Given the description of an element on the screen output the (x, y) to click on. 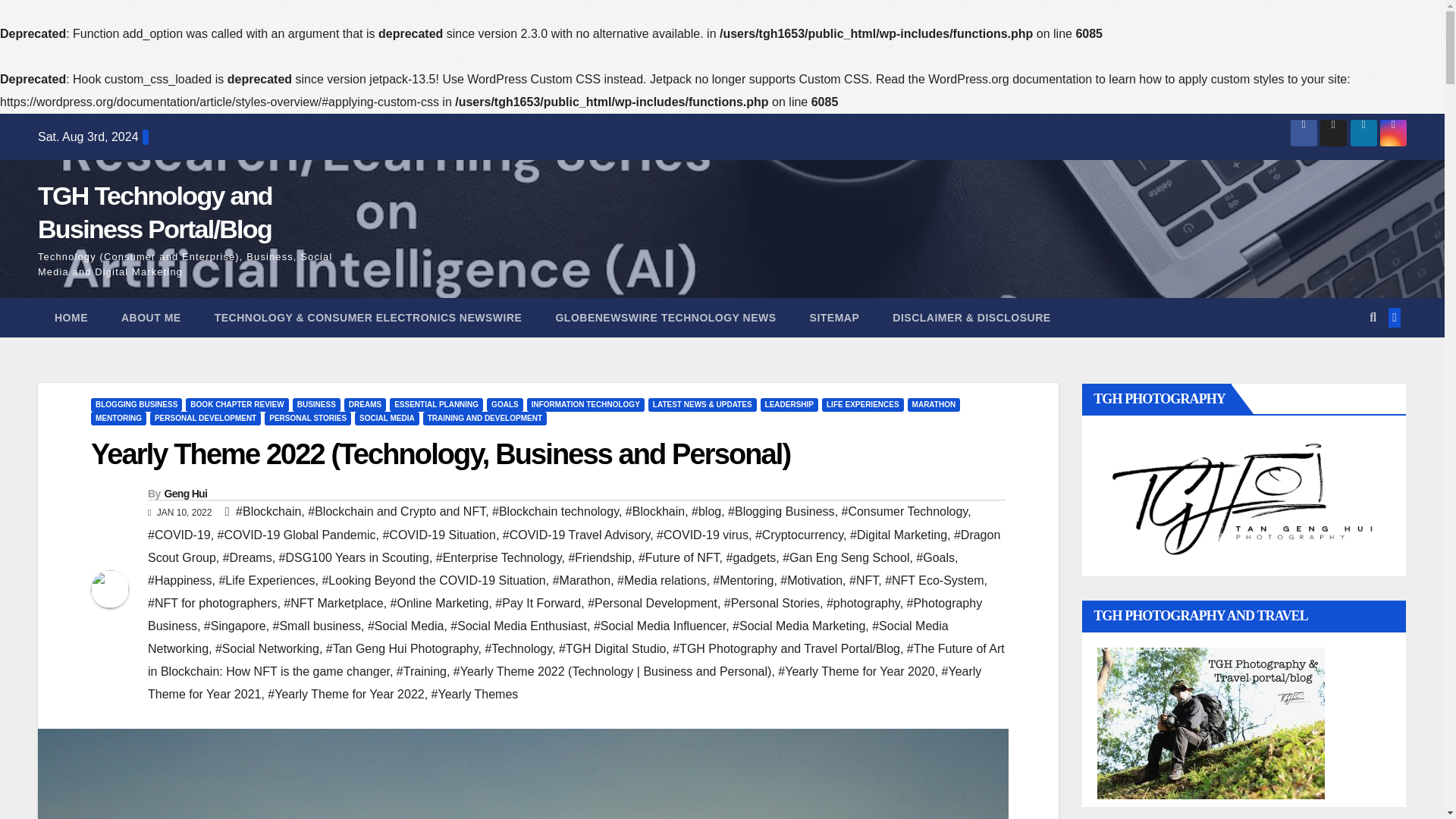
PERSONAL DEVELOPMENT (204, 418)
SITEMAP (834, 317)
INFORMATION TECHNOLOGY (586, 404)
Home (70, 317)
LEADERSHIP (789, 404)
GLOBENEWSWIRE TECHNOLOGY NEWS (665, 317)
DREAMS (364, 404)
ABOUT ME (151, 317)
MARATHON (933, 404)
HOME (70, 317)
SOCIAL MEDIA (387, 418)
BUSINESS (316, 404)
TRAINING AND DEVELOPMENT (485, 418)
BOOK CHAPTER REVIEW (237, 404)
Geng Hui (184, 493)
